Given the description of an element on the screen output the (x, y) to click on. 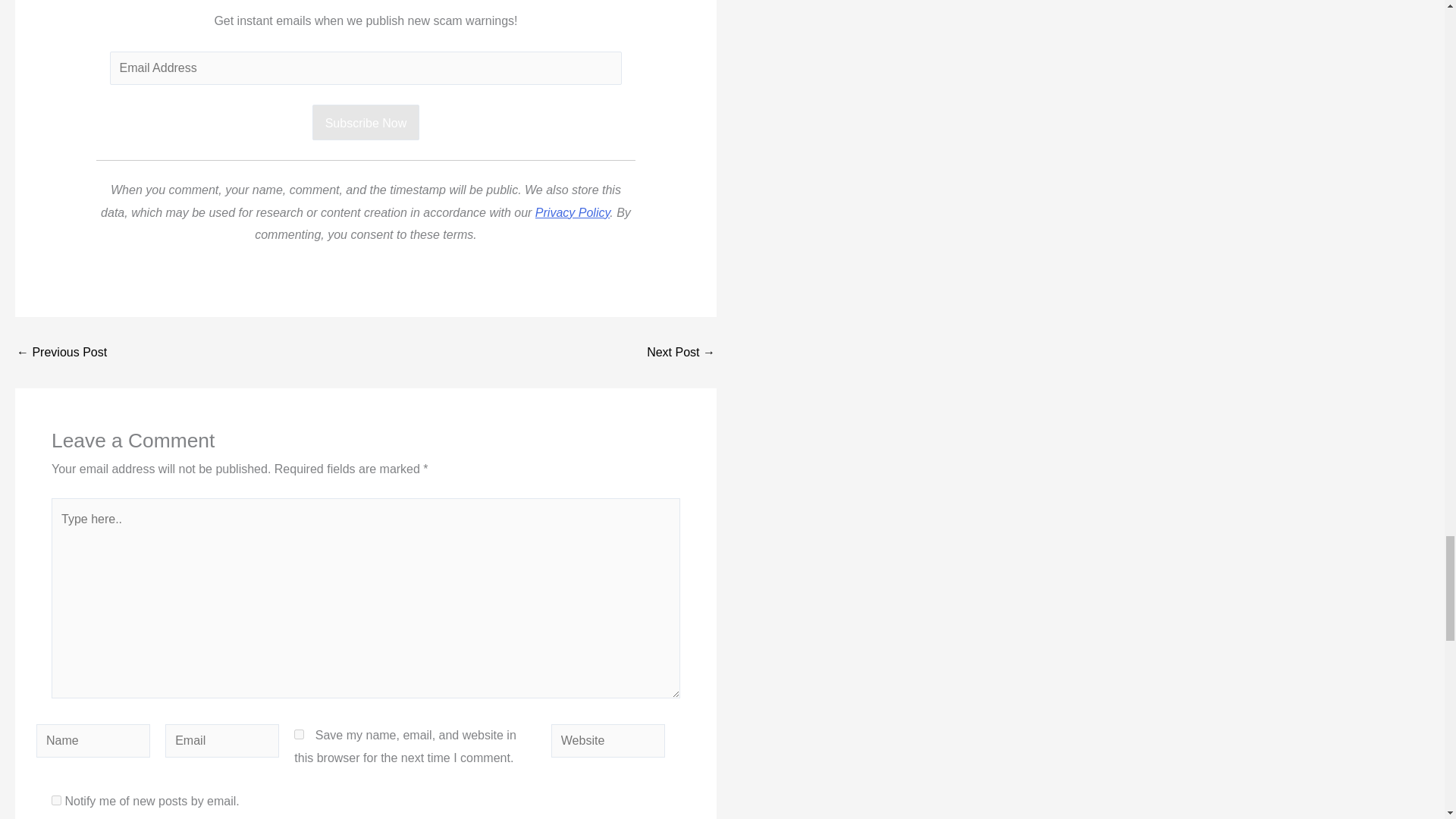
yes (299, 734)
Peter Popoff Scam - Reality Exposed (680, 352)
subscribe (55, 800)
Is Network Marketing a Scam? (61, 352)
Subscribe Now (366, 122)
